Given the description of an element on the screen output the (x, y) to click on. 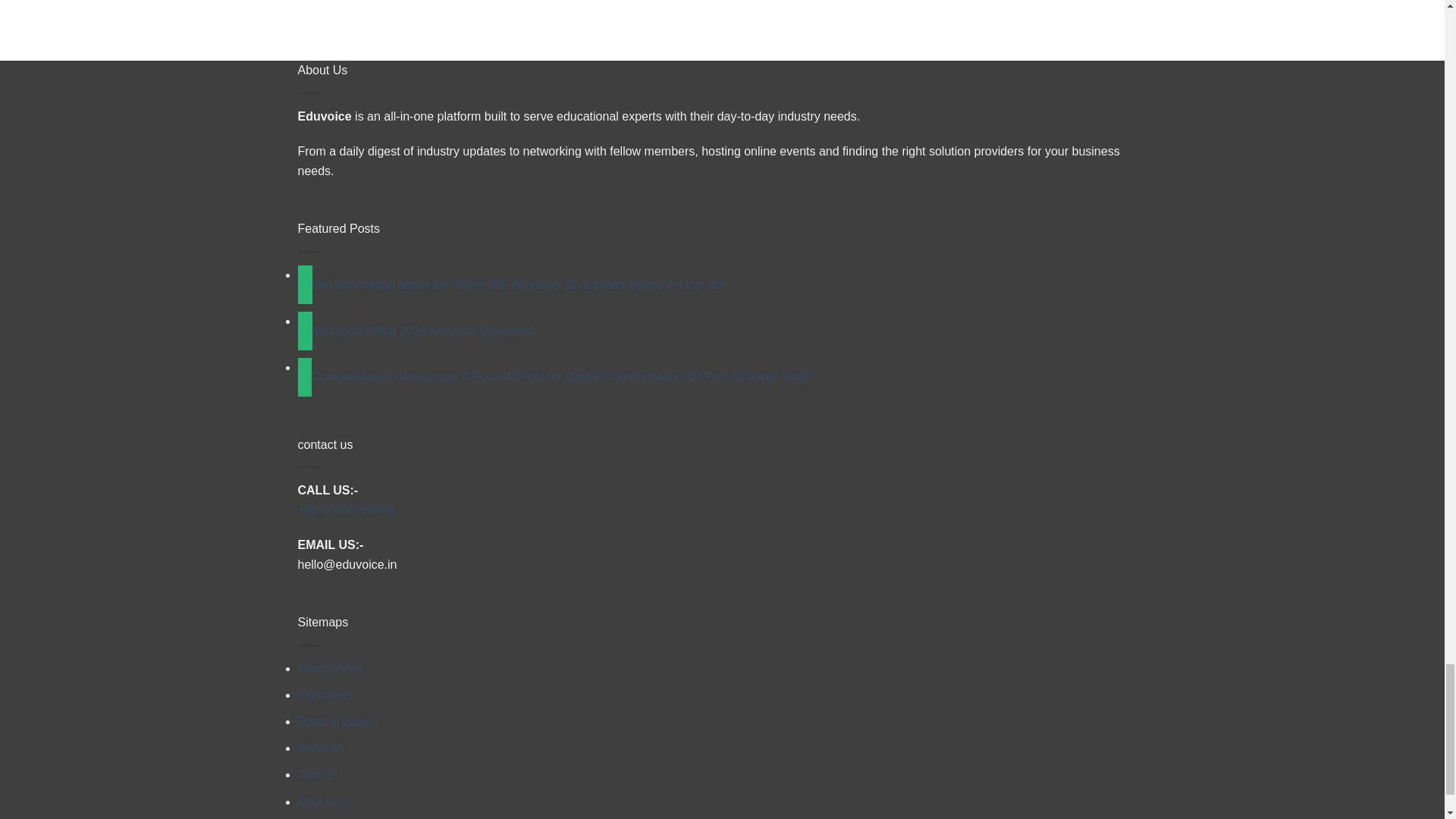
Microsoft Office 2024 Activator Download (423, 330)
